Given the description of an element on the screen output the (x, y) to click on. 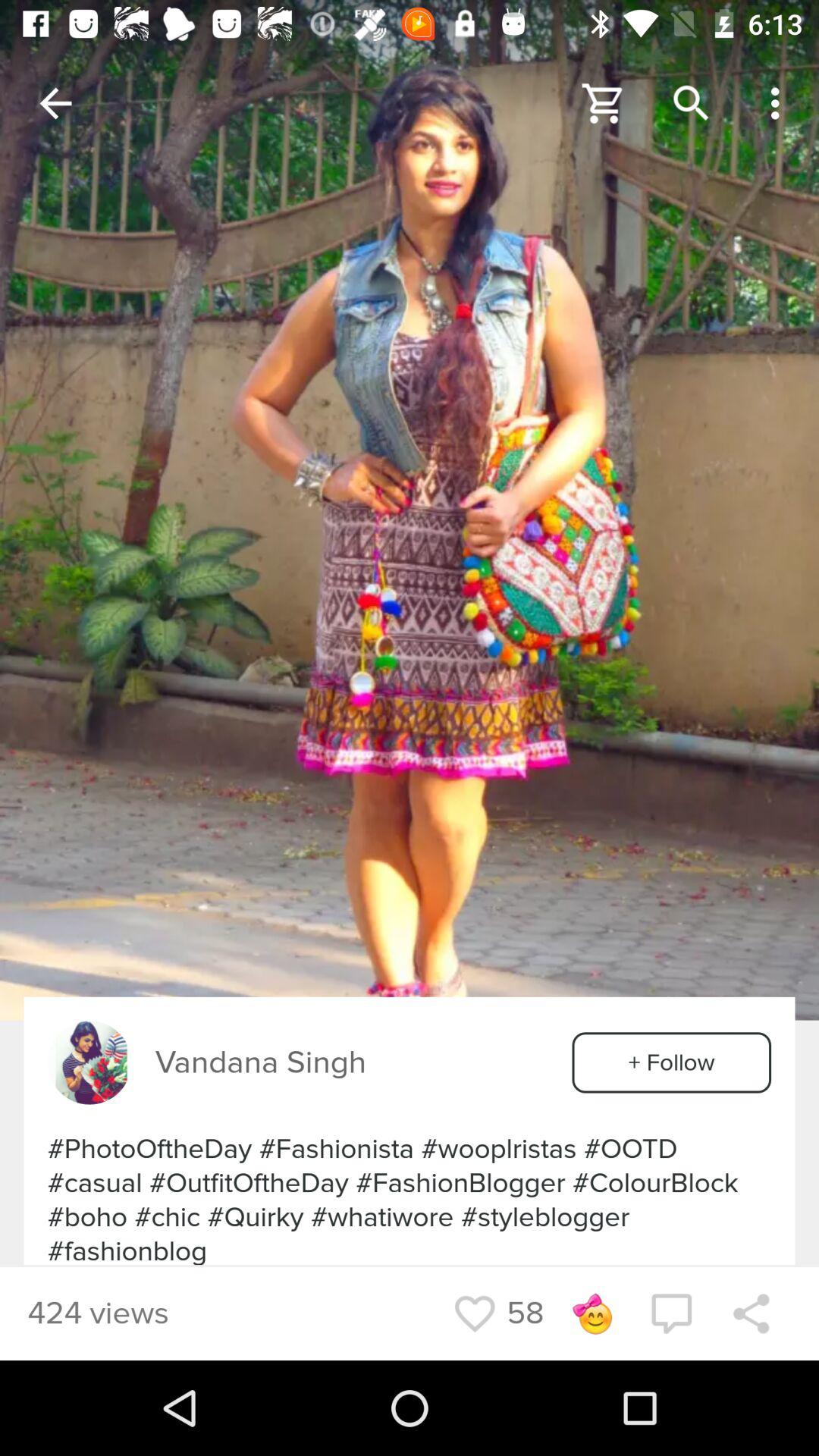
emoji click option (591, 1313)
